Given the description of an element on the screen output the (x, y) to click on. 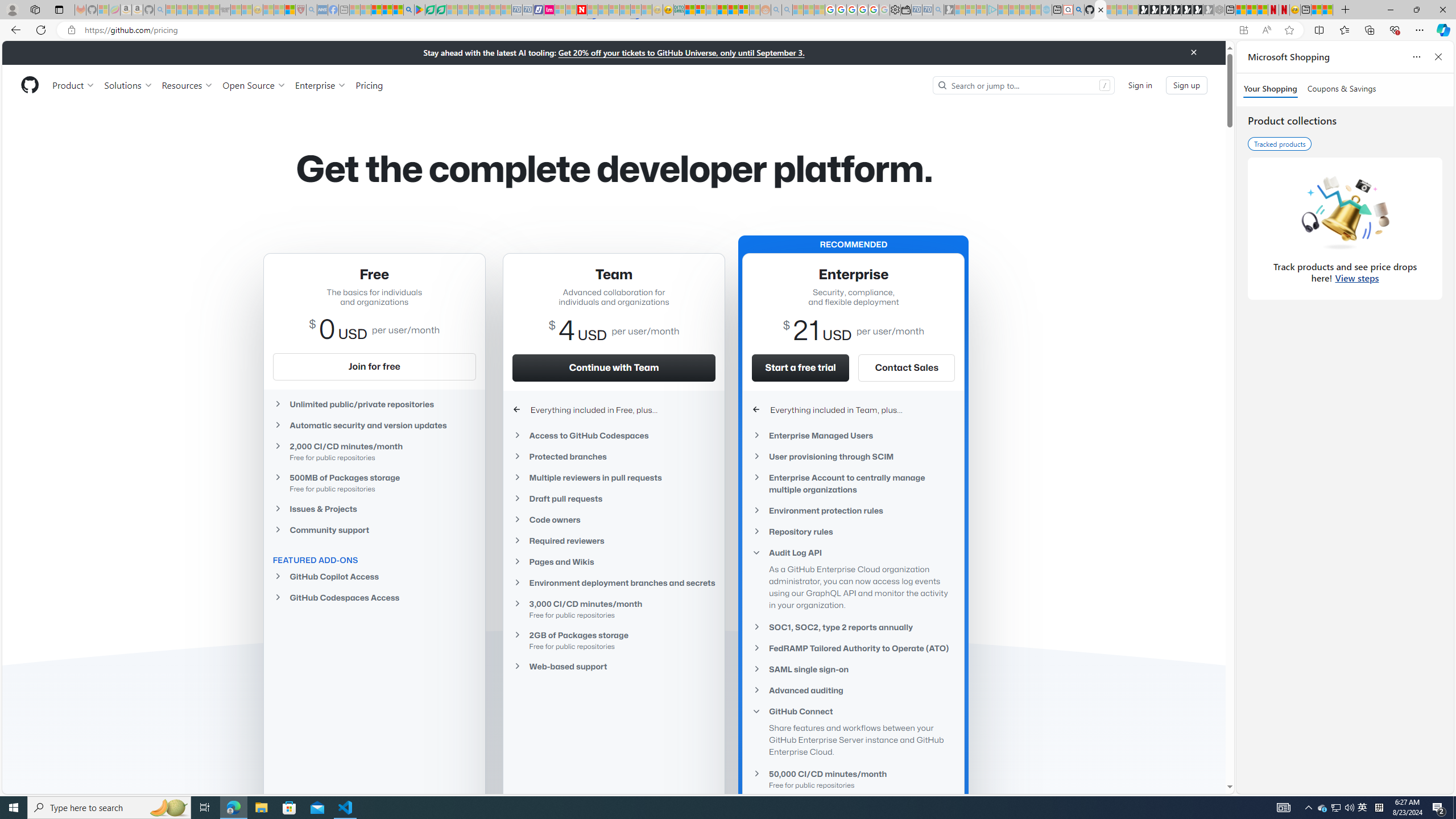
GitHub Connect (853, 711)
Code owners (614, 519)
Enterprise Managed Users (853, 435)
Join for free (374, 366)
Protected branches (614, 456)
Bluey: Let's Play! - Apps on Google Play (419, 9)
